Given the description of an element on the screen output the (x, y) to click on. 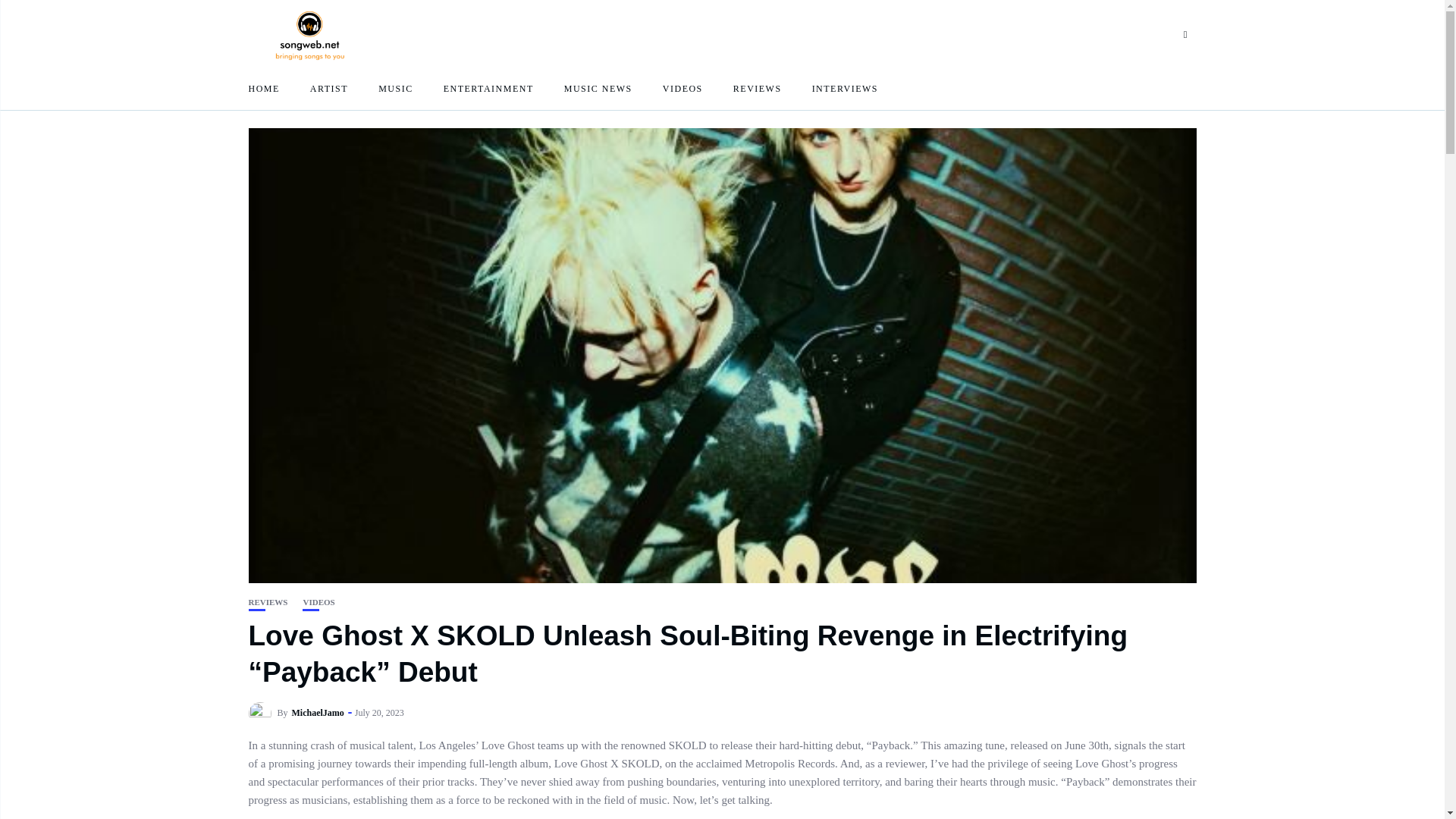
MichaelJamo (317, 712)
INTERVIEWS (844, 88)
Posts by MichaelJamo (317, 712)
ARTIST (328, 88)
VIDEOS (682, 88)
VIDEOS (318, 602)
MUSIC NEWS (597, 88)
ENTERTAINMENT (489, 88)
REVIEWS (757, 88)
REVIEWS (268, 602)
